Given the description of an element on the screen output the (x, y) to click on. 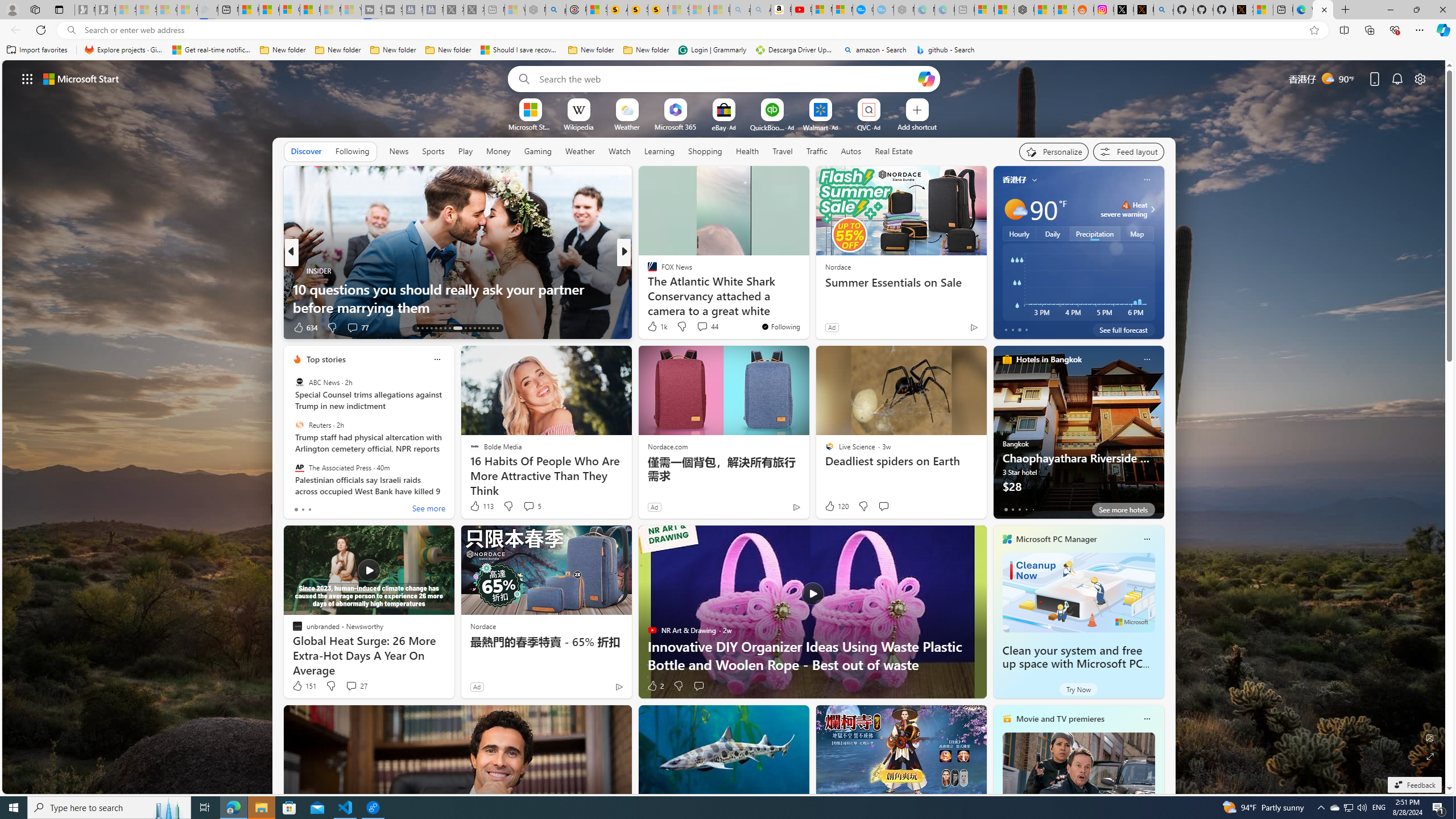
View comments 5 Comment (528, 505)
View comments 77 Comment (357, 327)
Mostly sunny (1014, 208)
Microsoft start (81, 78)
